Given the description of an element on the screen output the (x, y) to click on. 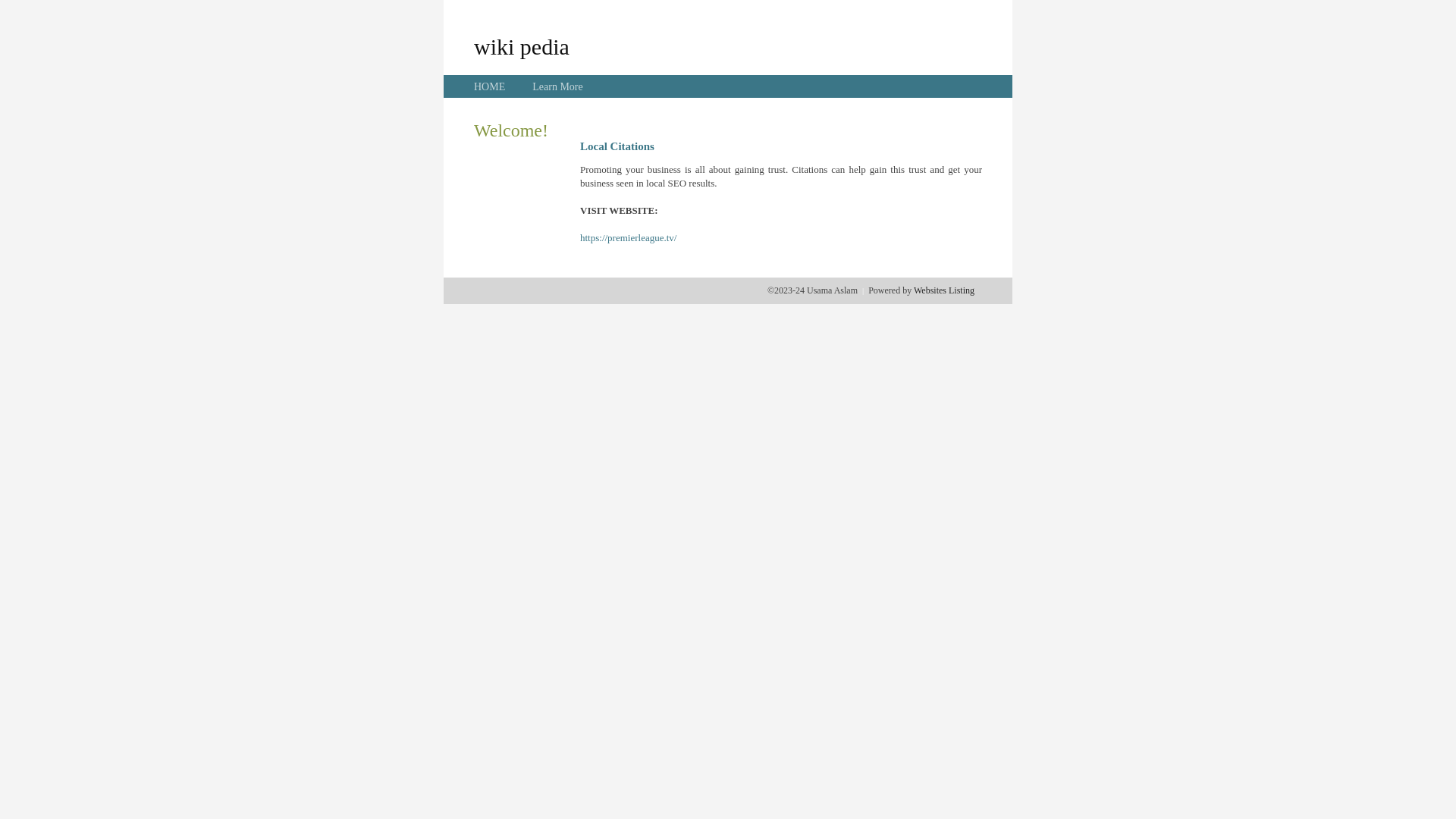
wiki pedia Element type: text (521, 46)
Websites Listing Element type: text (943, 290)
HOME Element type: text (489, 86)
https://premierleague.tv/ Element type: text (628, 237)
Learn More Element type: text (557, 86)
